Given the description of an element on the screen output the (x, y) to click on. 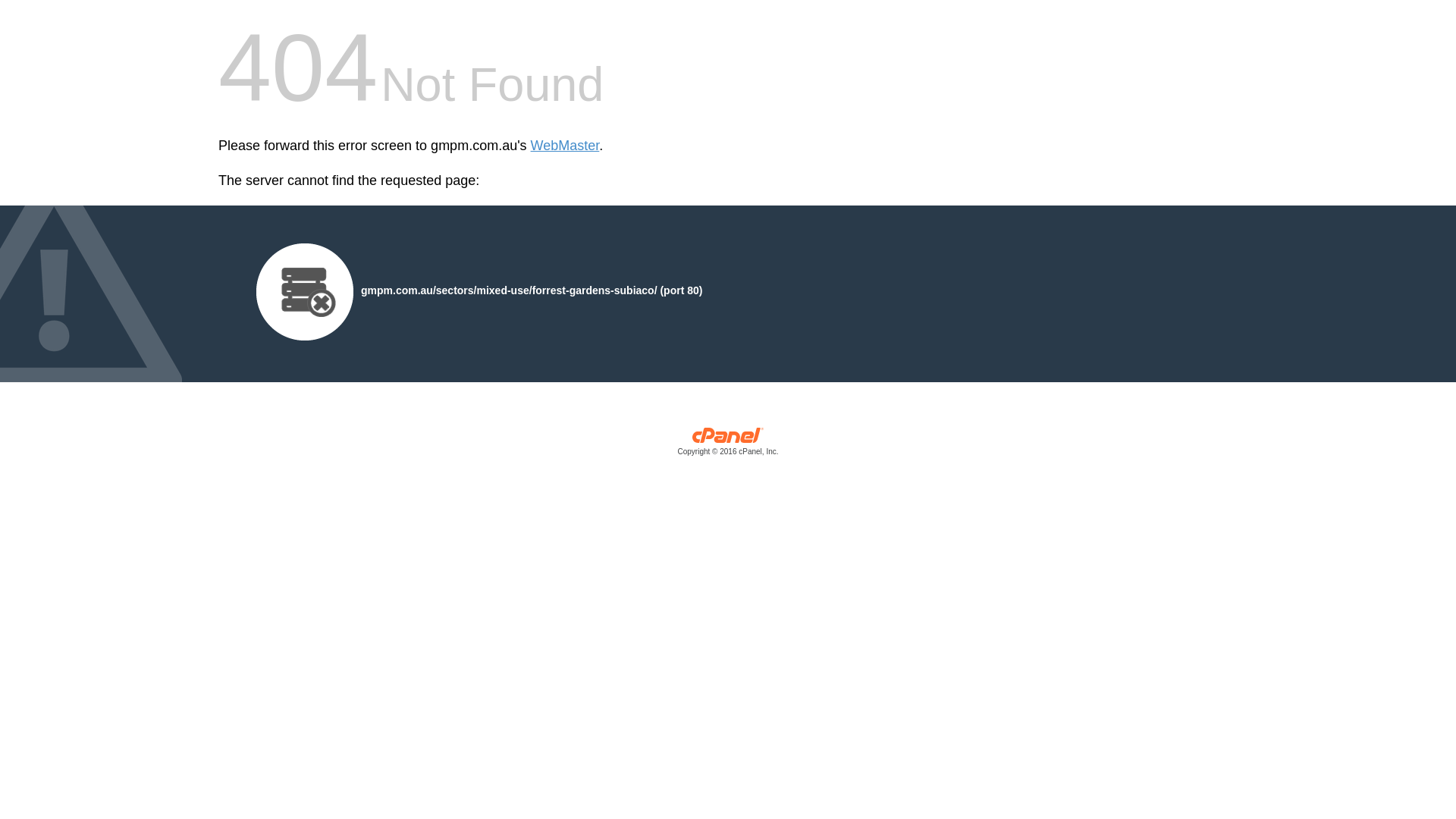
WebMaster Element type: text (564, 145)
